Given the description of an element on the screen output the (x, y) to click on. 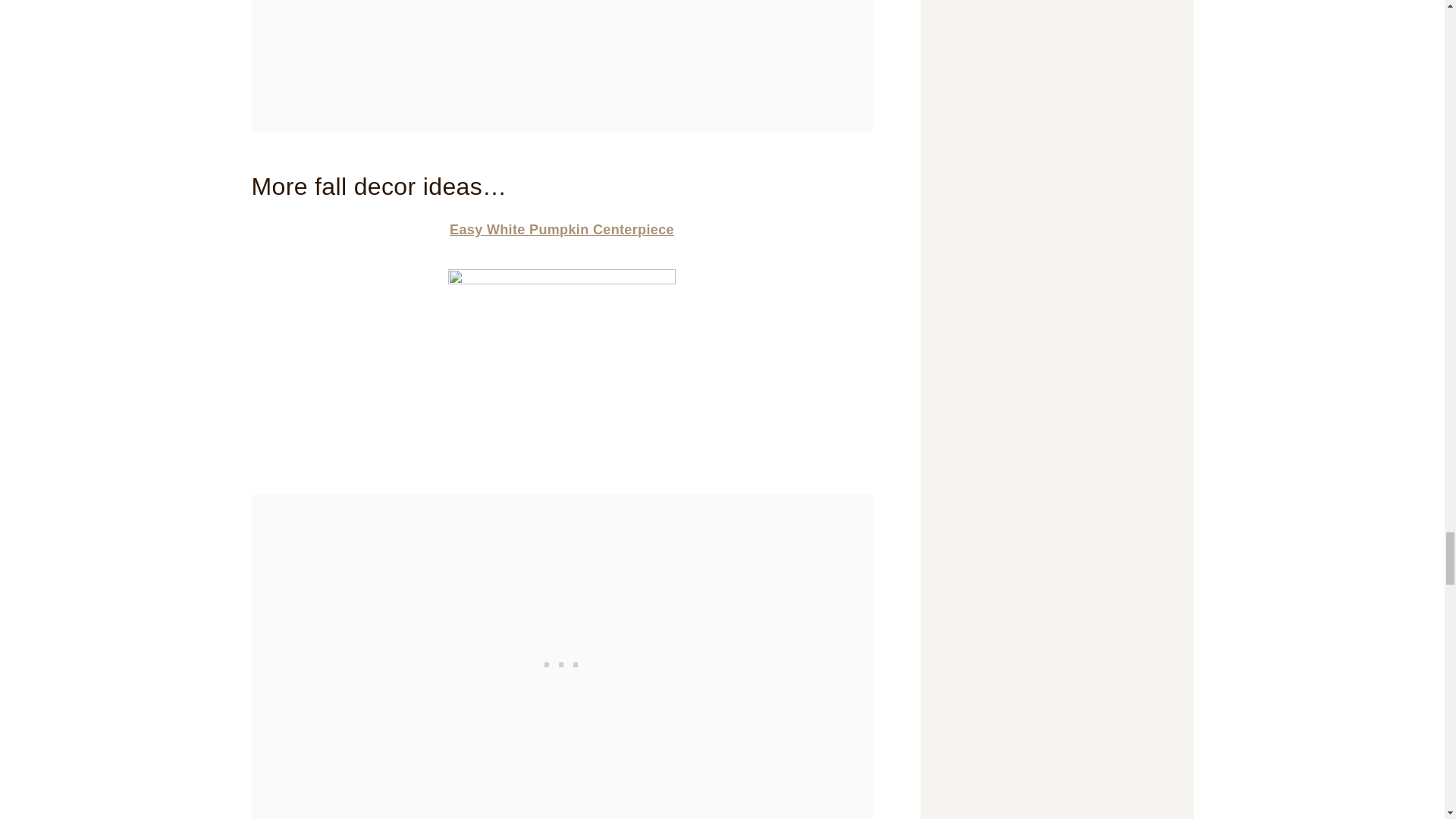
Easy White Pumpkin Centerpiece (561, 229)
